Given the description of an element on the screen output the (x, y) to click on. 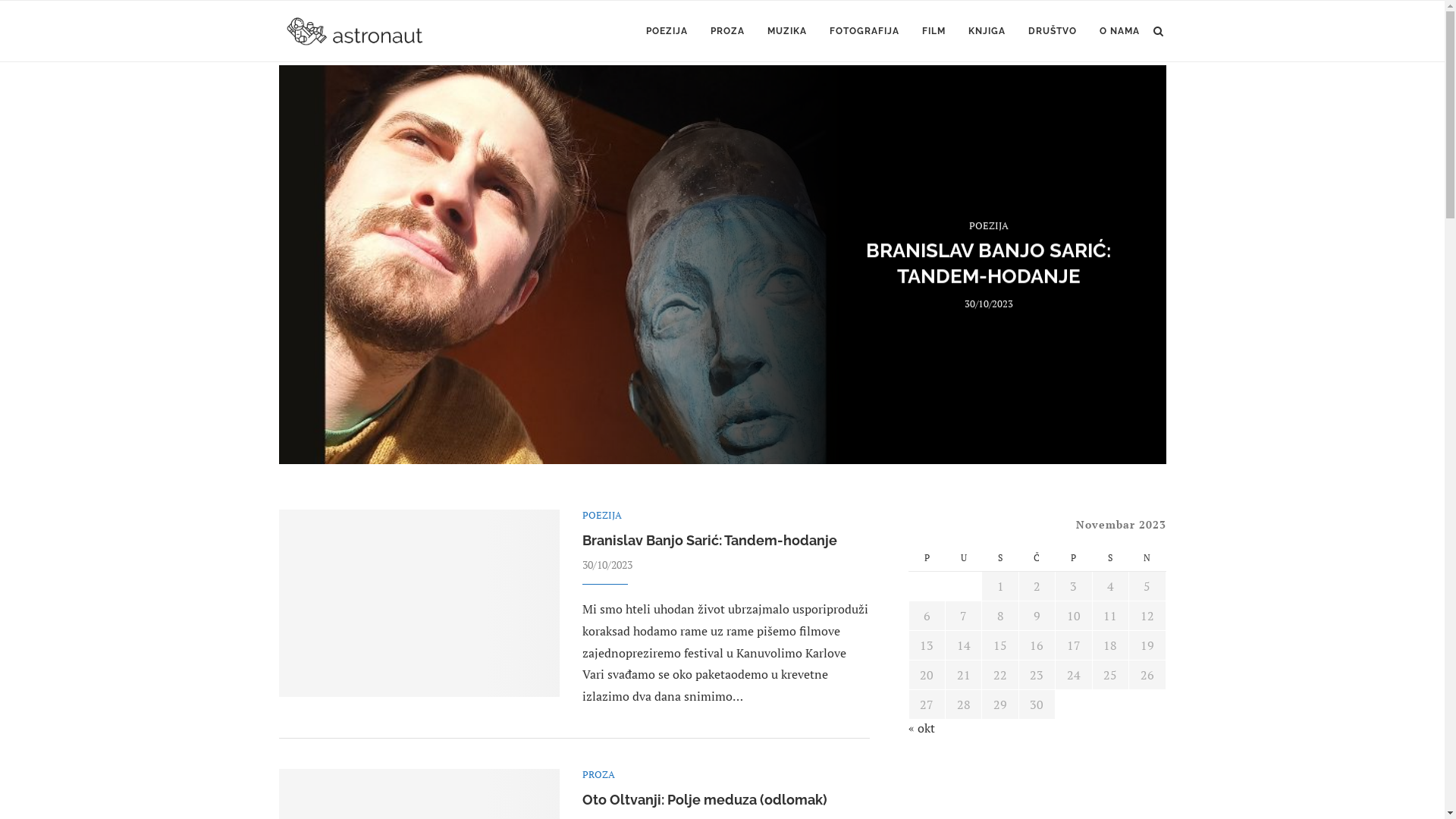
PROZA Element type: text (726, 30)
KNJIGA Element type: text (985, 30)
POEZIJA Element type: text (988, 225)
FILM Element type: text (933, 30)
POEZIJA Element type: text (666, 30)
MUZIKA Element type: text (786, 30)
POEZIJA Element type: text (601, 515)
O NAMA Element type: text (1119, 30)
PROZA Element type: text (598, 774)
FOTOGRAFIJA Element type: text (864, 30)
Oto Oltvanji: Polje meduza (odlomak) Element type: text (704, 799)
